Given the description of an element on the screen output the (x, y) to click on. 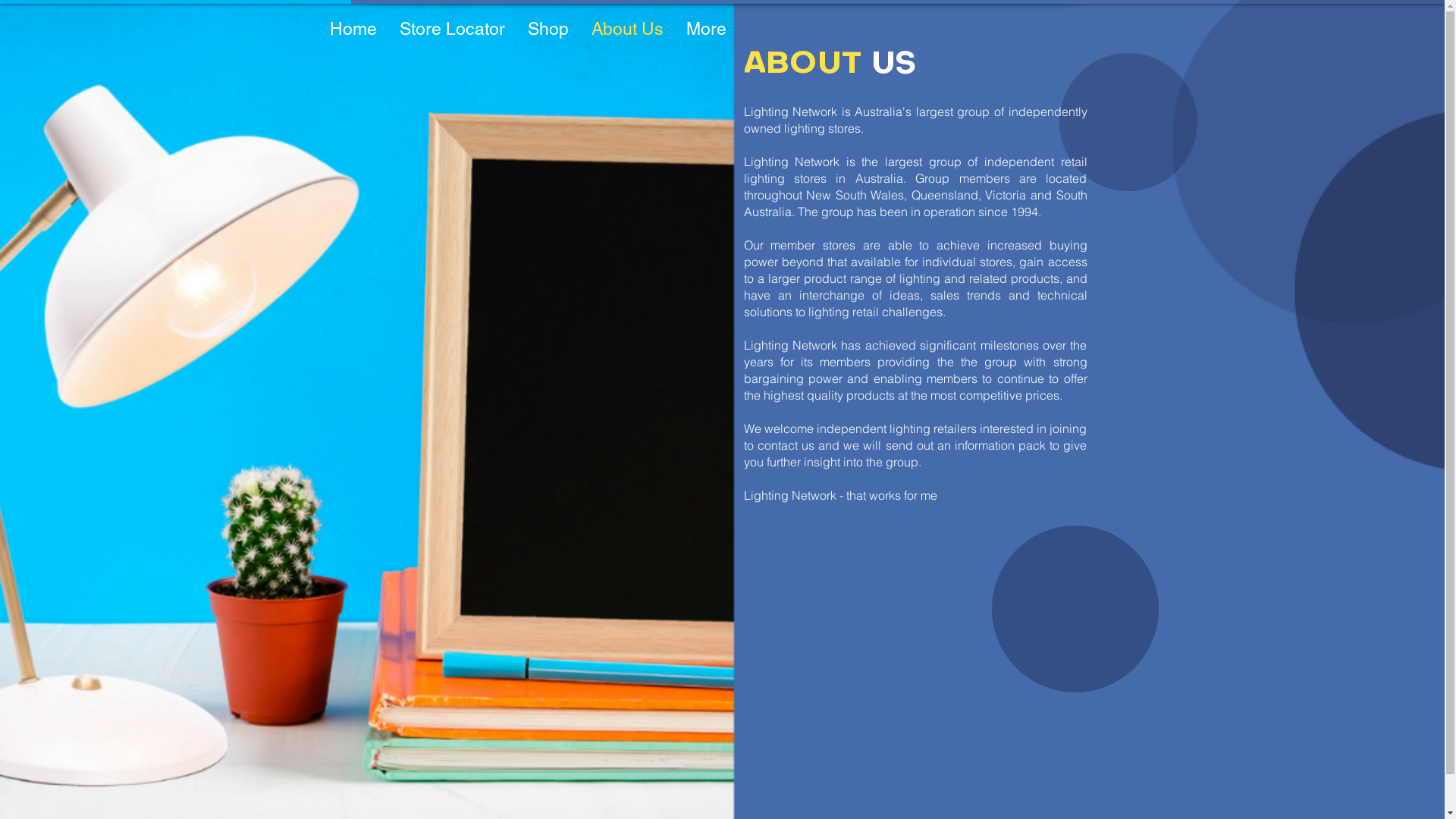
Shop Element type: text (548, 28)
Store Locator Element type: text (452, 28)
About Us Element type: text (627, 28)
Home Element type: text (353, 28)
